Given the description of an element on the screen output the (x, y) to click on. 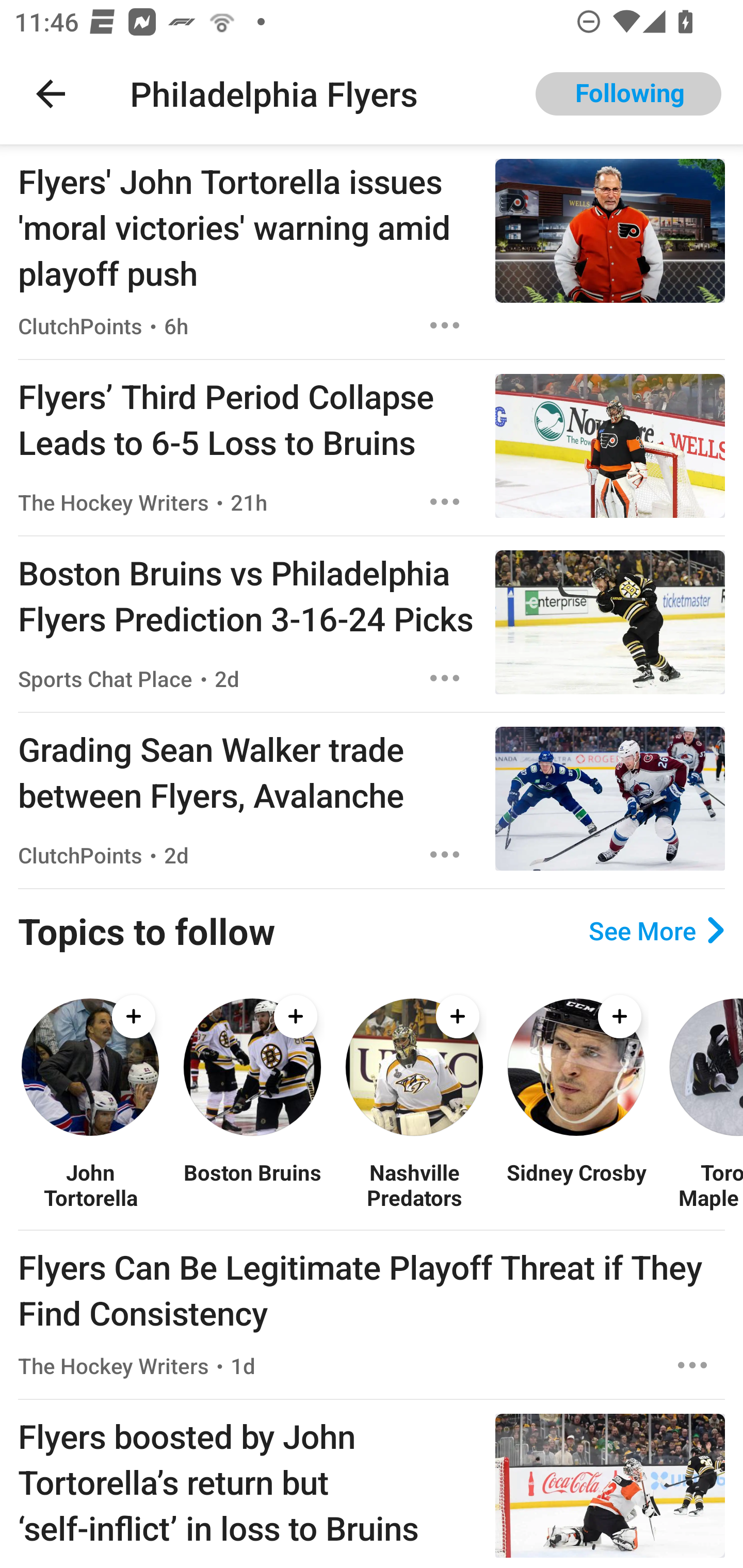
Navigate up (50, 93)
Following (628, 94)
Options (444, 325)
Options (444, 501)
Options (444, 677)
Options (444, 854)
See More (656, 930)
John Tortorella (89, 1184)
Boston Bruins (251, 1184)
Nashville Predators (413, 1184)
Sidney Crosby (575, 1184)
Options (692, 1365)
